Given the description of an element on the screen output the (x, y) to click on. 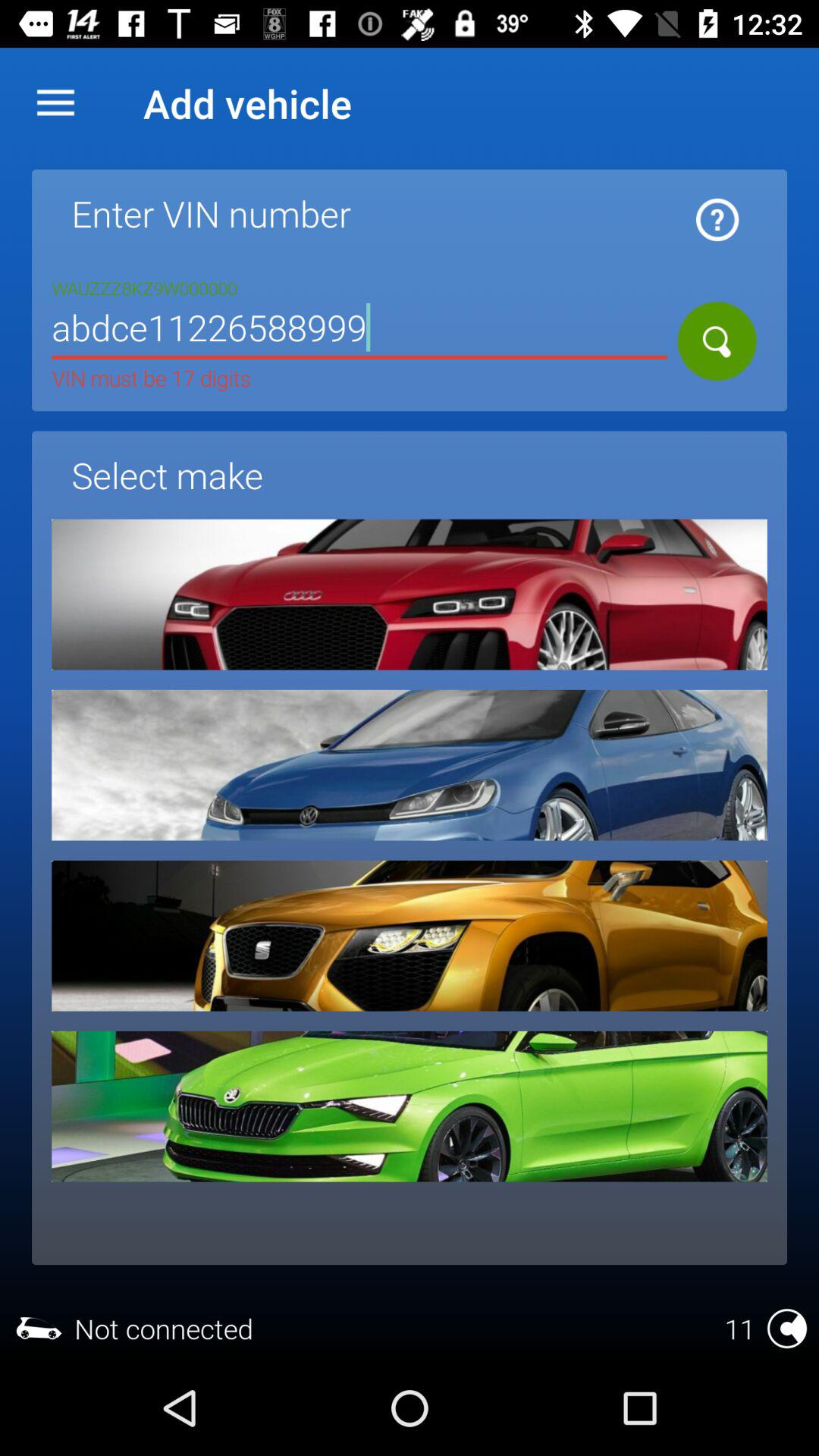
select option (409, 935)
